Given the description of an element on the screen output the (x, y) to click on. 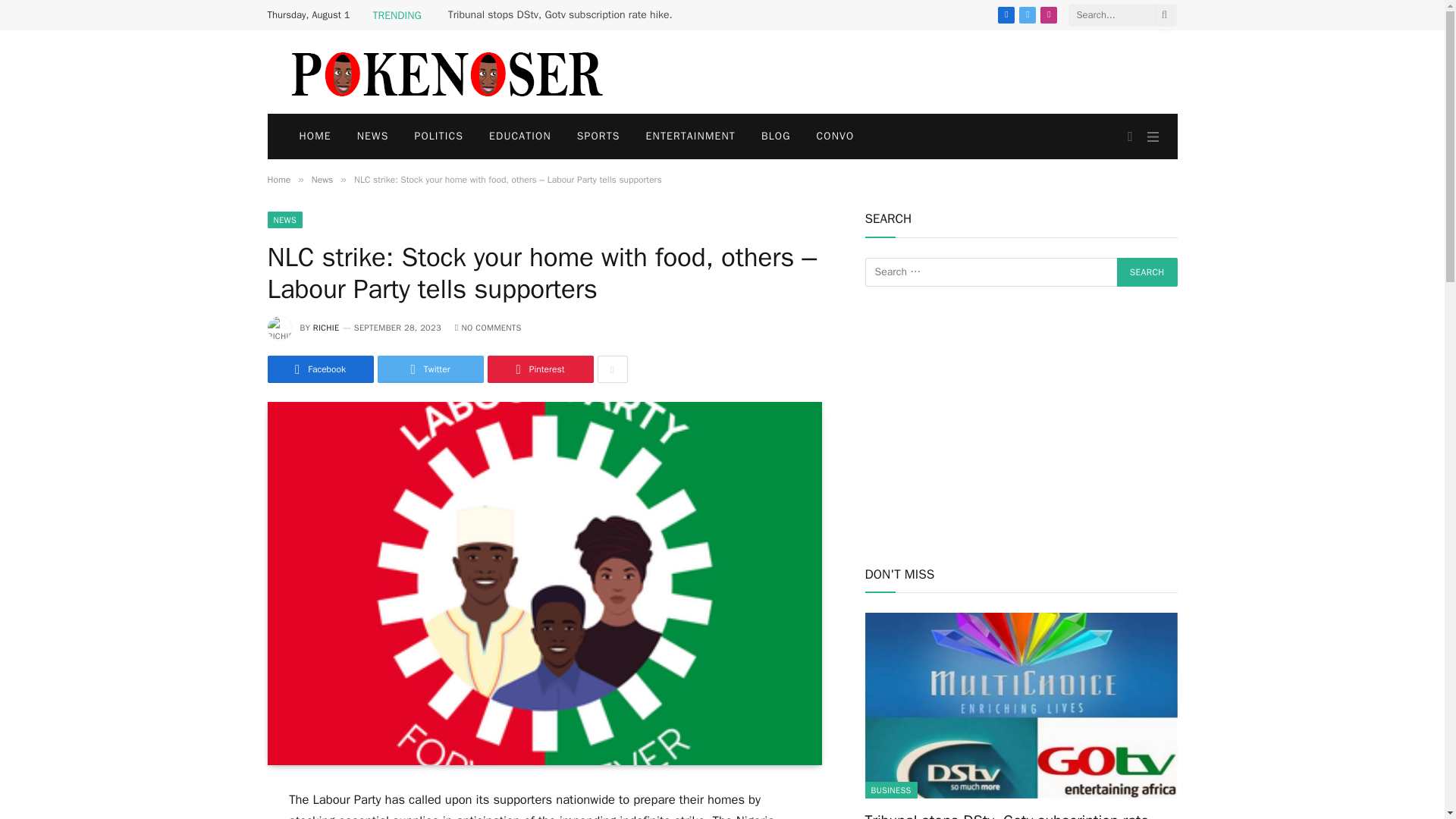
Instagram (1049, 14)
NEWS (372, 135)
Pokenoser (445, 71)
Twitter (1027, 14)
POLITICS (438, 135)
Search (1146, 271)
Tribunal stops DStv, Gotv subscription rate hike. (563, 15)
Facebook (1005, 14)
News (322, 179)
Share on Twitter (430, 369)
ENTERTAINMENT (690, 135)
CONVO (835, 135)
HOME (314, 135)
BLOG (775, 135)
NEWS (284, 219)
